Given the description of an element on the screen output the (x, y) to click on. 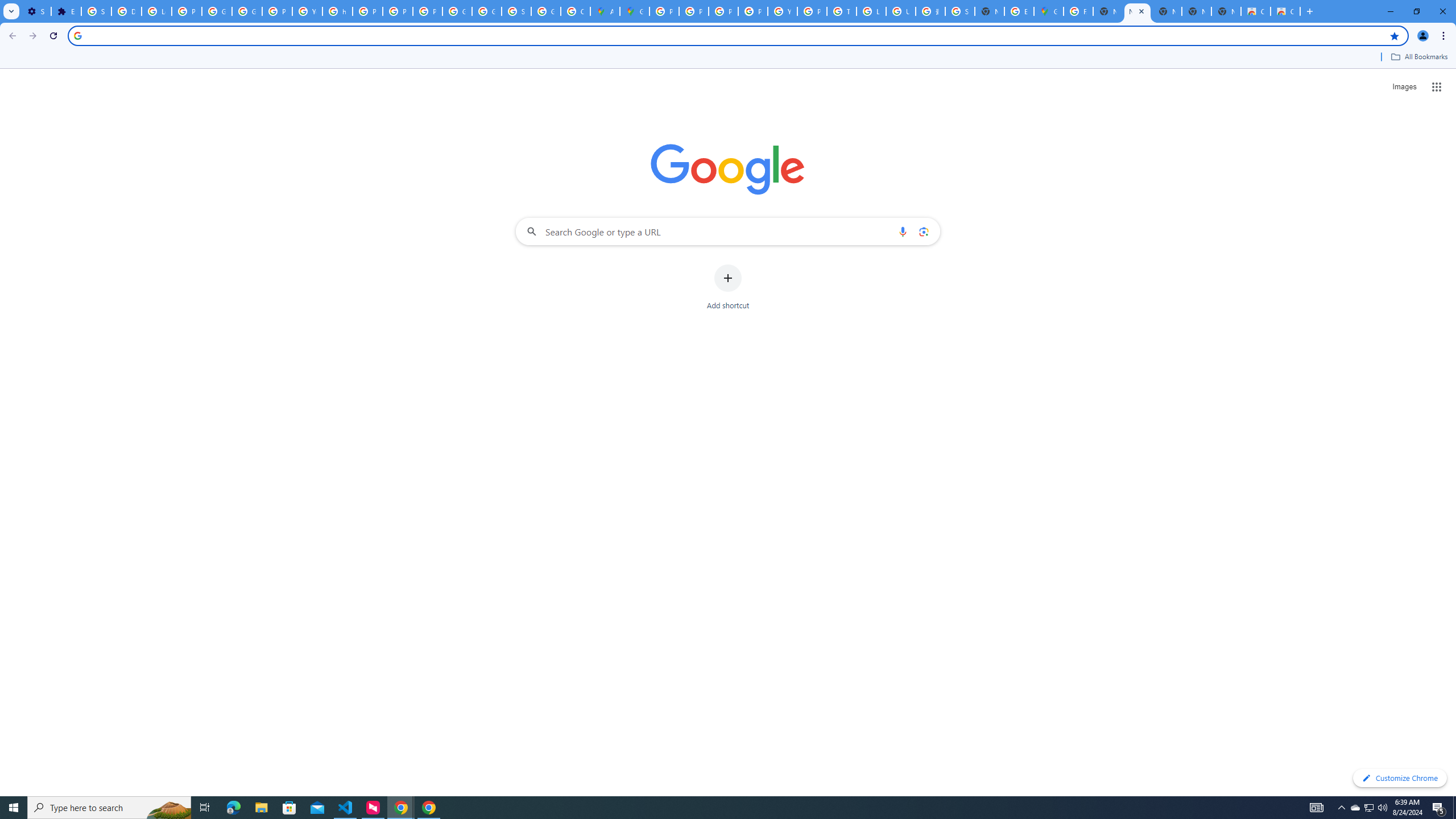
All Bookmarks (1418, 56)
Add shortcut (727, 287)
Search by voice (902, 230)
Settings - On startup (36, 11)
